Given the description of an element on the screen output the (x, y) to click on. 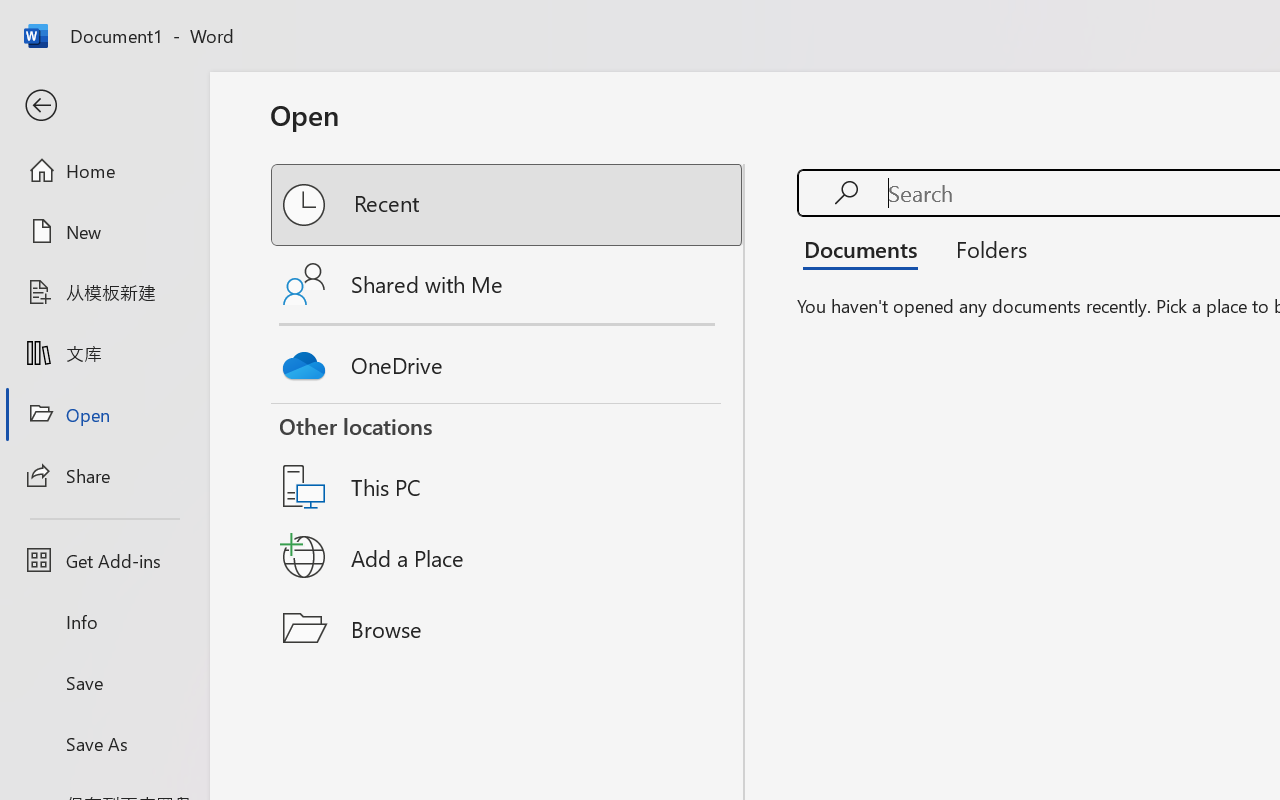
Documents (866, 248)
Browse (507, 627)
Info (104, 621)
New (104, 231)
Add a Place (507, 557)
This PC (507, 461)
Folders (984, 248)
Recent (507, 205)
